Given the description of an element on the screen output the (x, y) to click on. 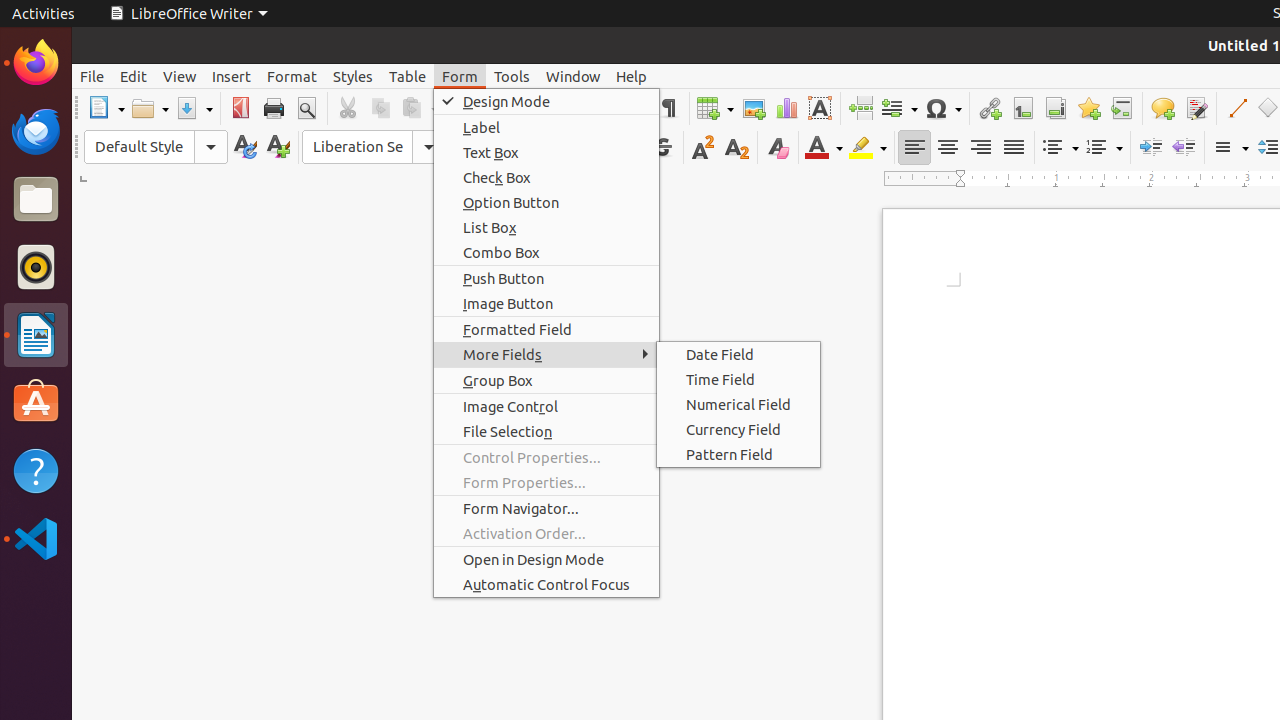
Highlight Color Element type: push-button (868, 147)
Rhythmbox Element type: push-button (36, 267)
Chart Element type: push-button (786, 108)
Font Name Element type: combo-box (374, 147)
Print Element type: push-button (273, 108)
